Given the description of an element on the screen output the (x, y) to click on. 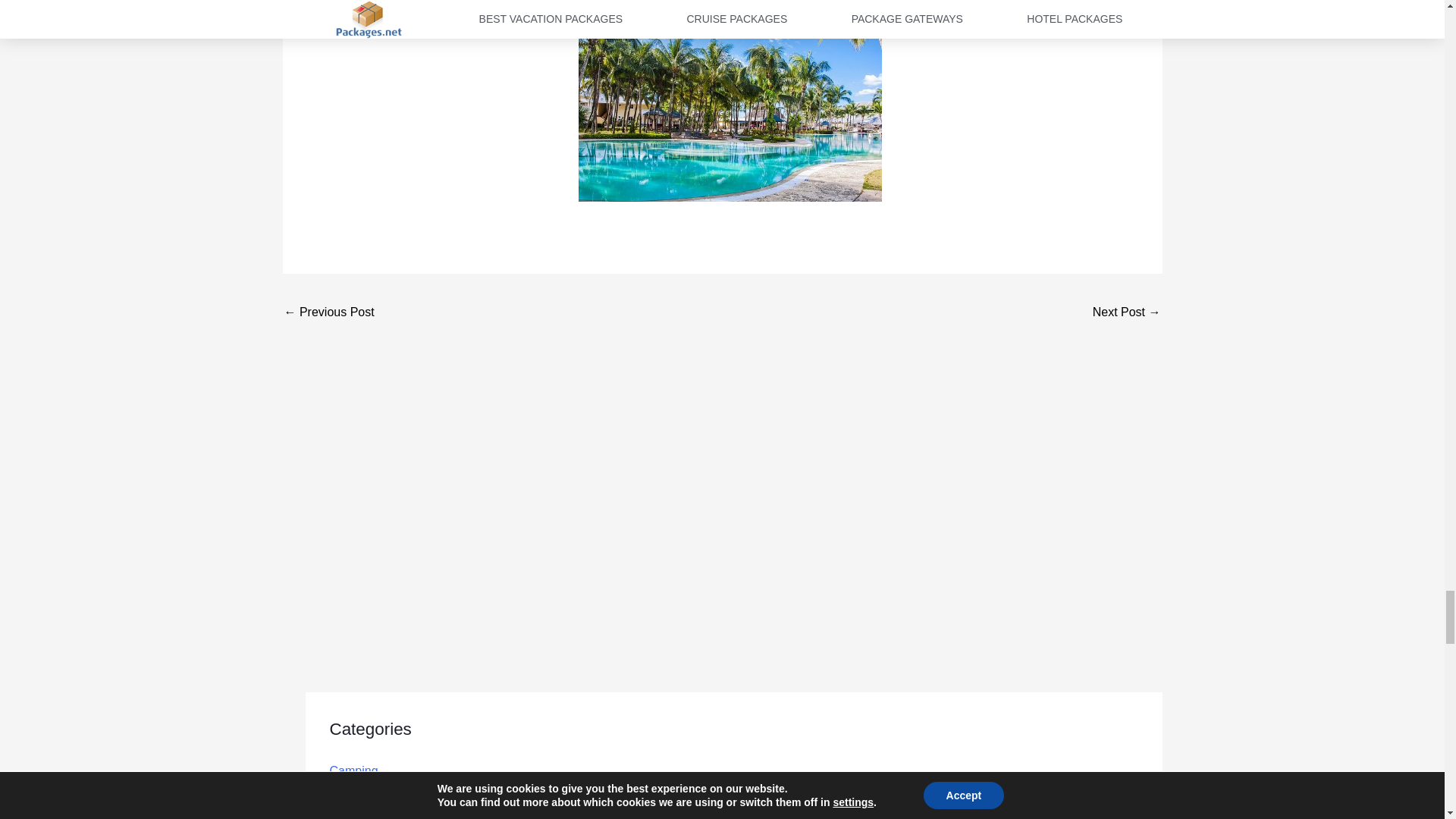
Easy Tricks To Help You Take Pictures (328, 313)
Camping (353, 770)
fishing (346, 807)
Great Ideas To Think About Before Your Camping Trip (1126, 313)
